Given the description of an element on the screen output the (x, y) to click on. 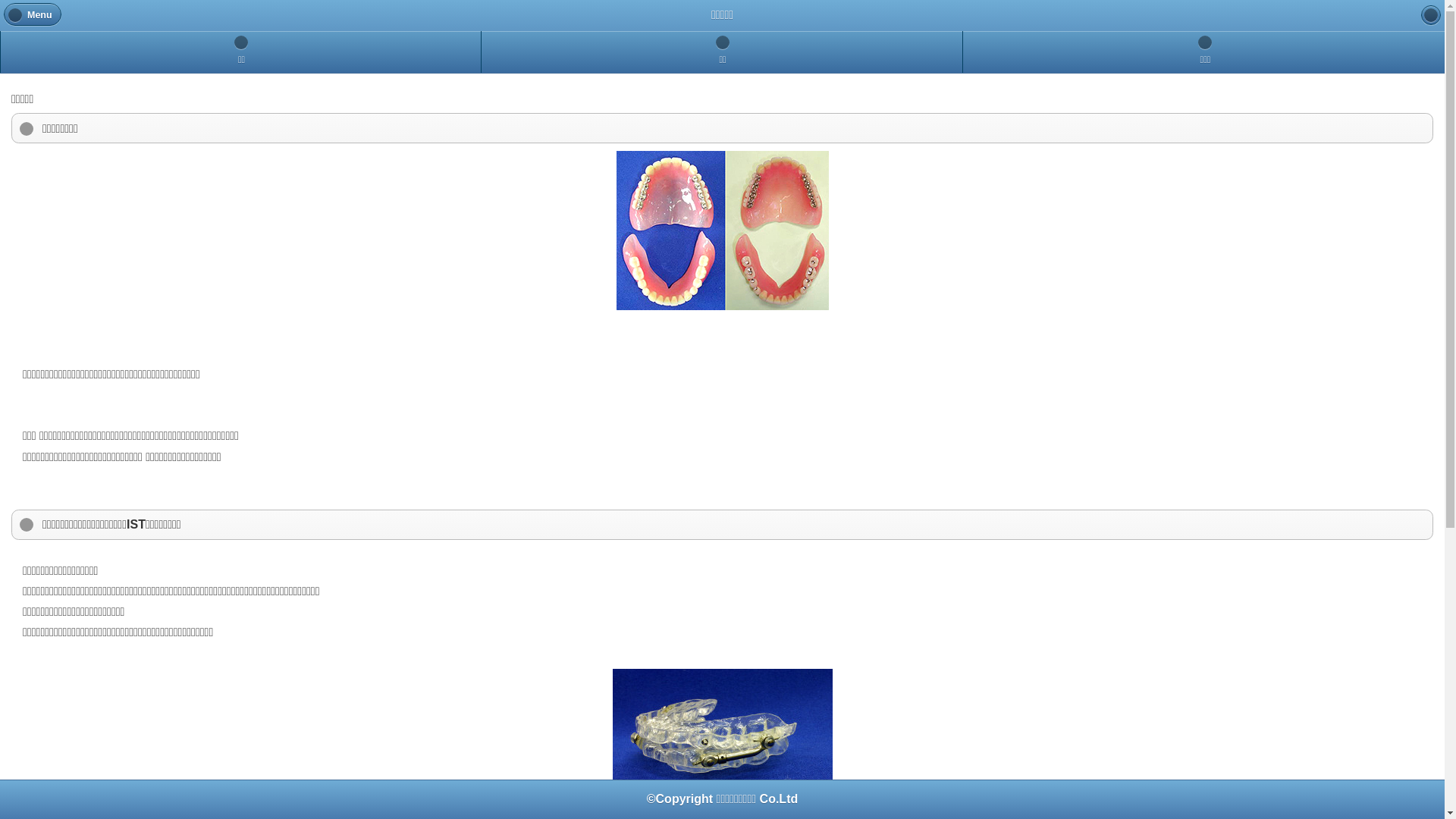
Menu
  Element type: text (32, 14)
  Element type: text (1430, 15)
Home Element type: hover (1430, 15)
